Given the description of an element on the screen output the (x, y) to click on. 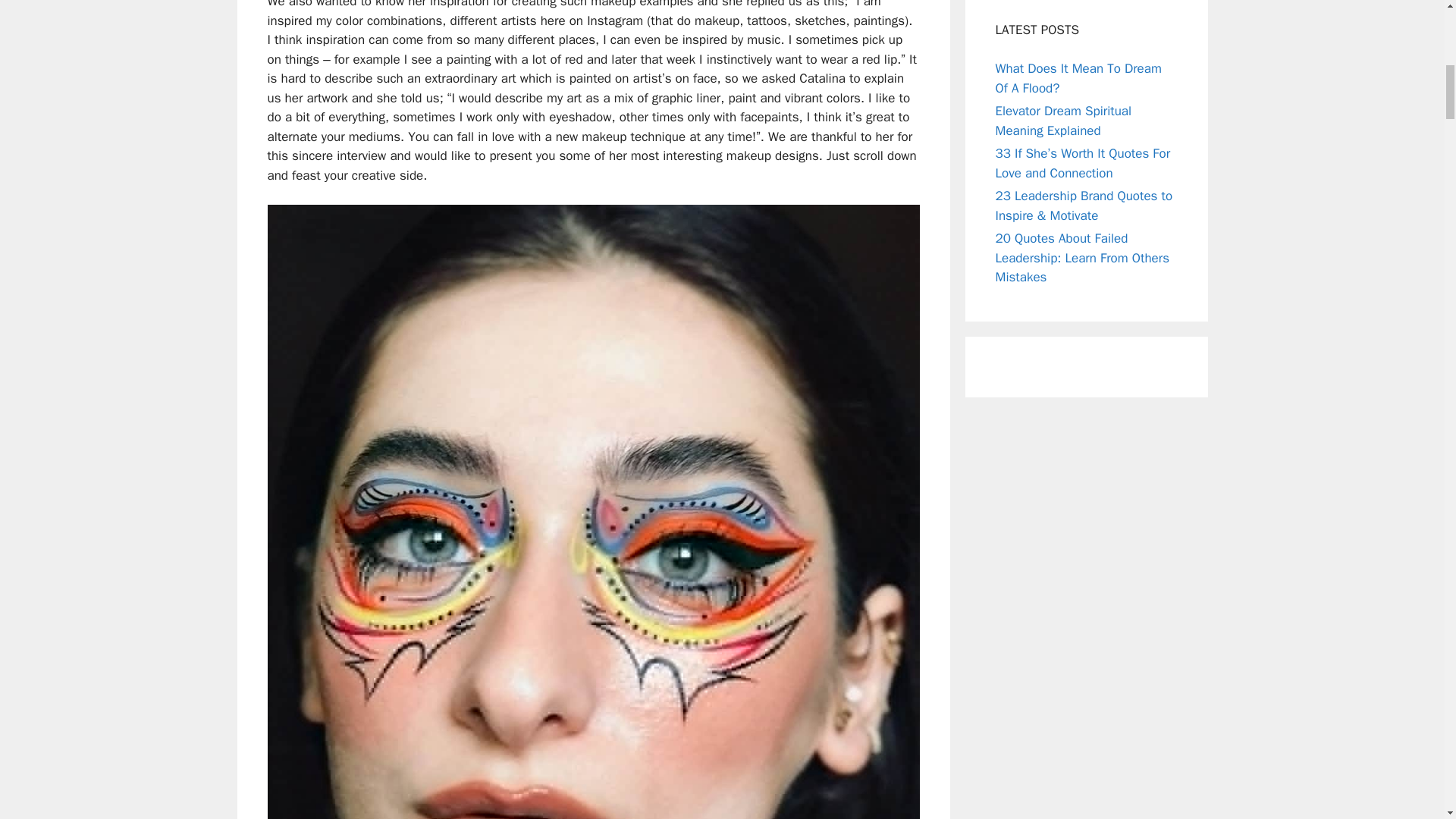
What Does It Mean To Dream Of A Flood? (1077, 78)
Elevator Dream Spiritual Meaning Explained (1062, 120)
